Given the description of an element on the screen output the (x, y) to click on. 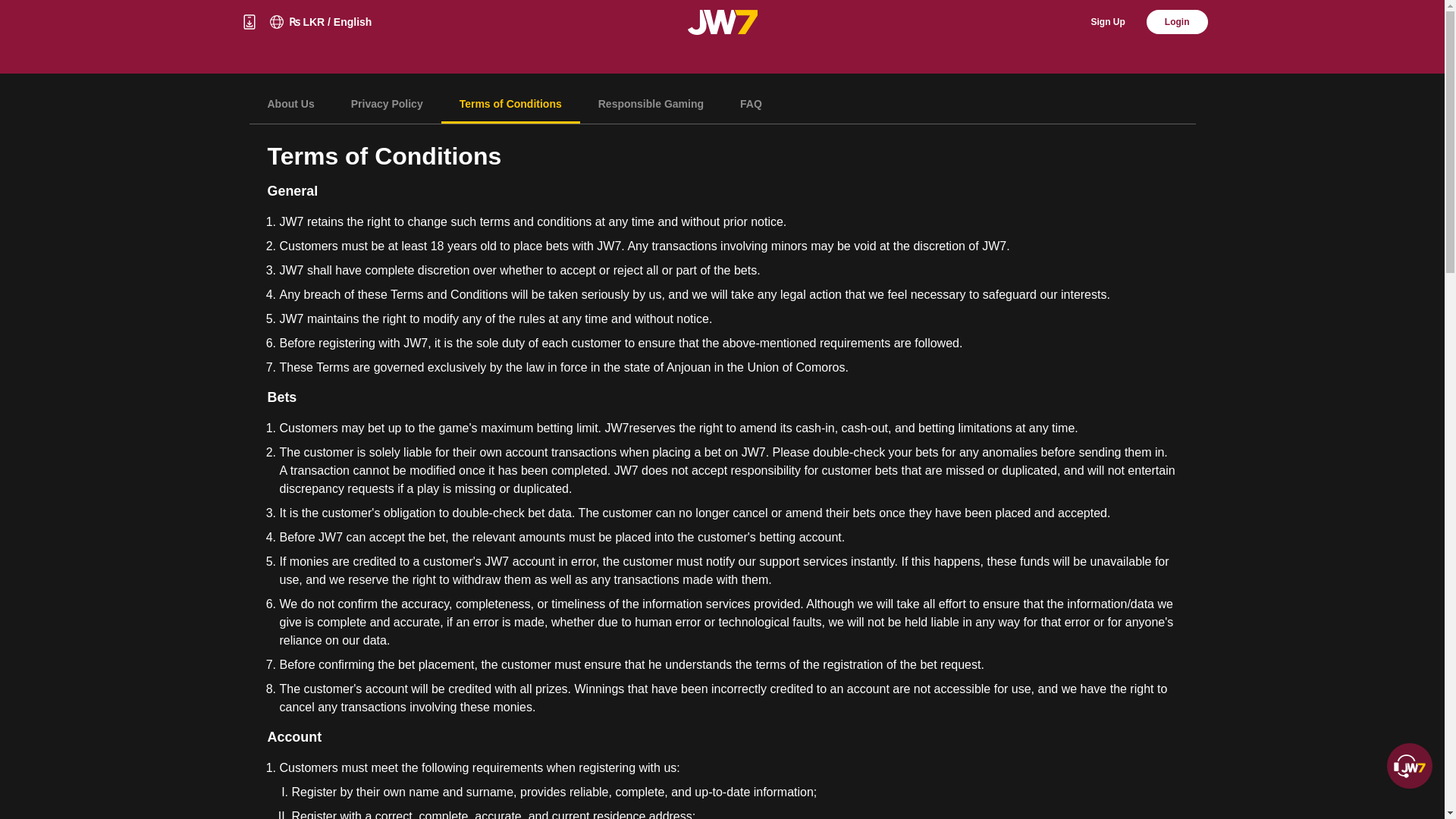
Responsible Gaming (650, 104)
Terms of Conditions (510, 104)
Sign Up (1107, 21)
Privacy Policy (387, 104)
About Us (289, 104)
Login (1177, 21)
FAQ (751, 104)
